Given the description of an element on the screen output the (x, y) to click on. 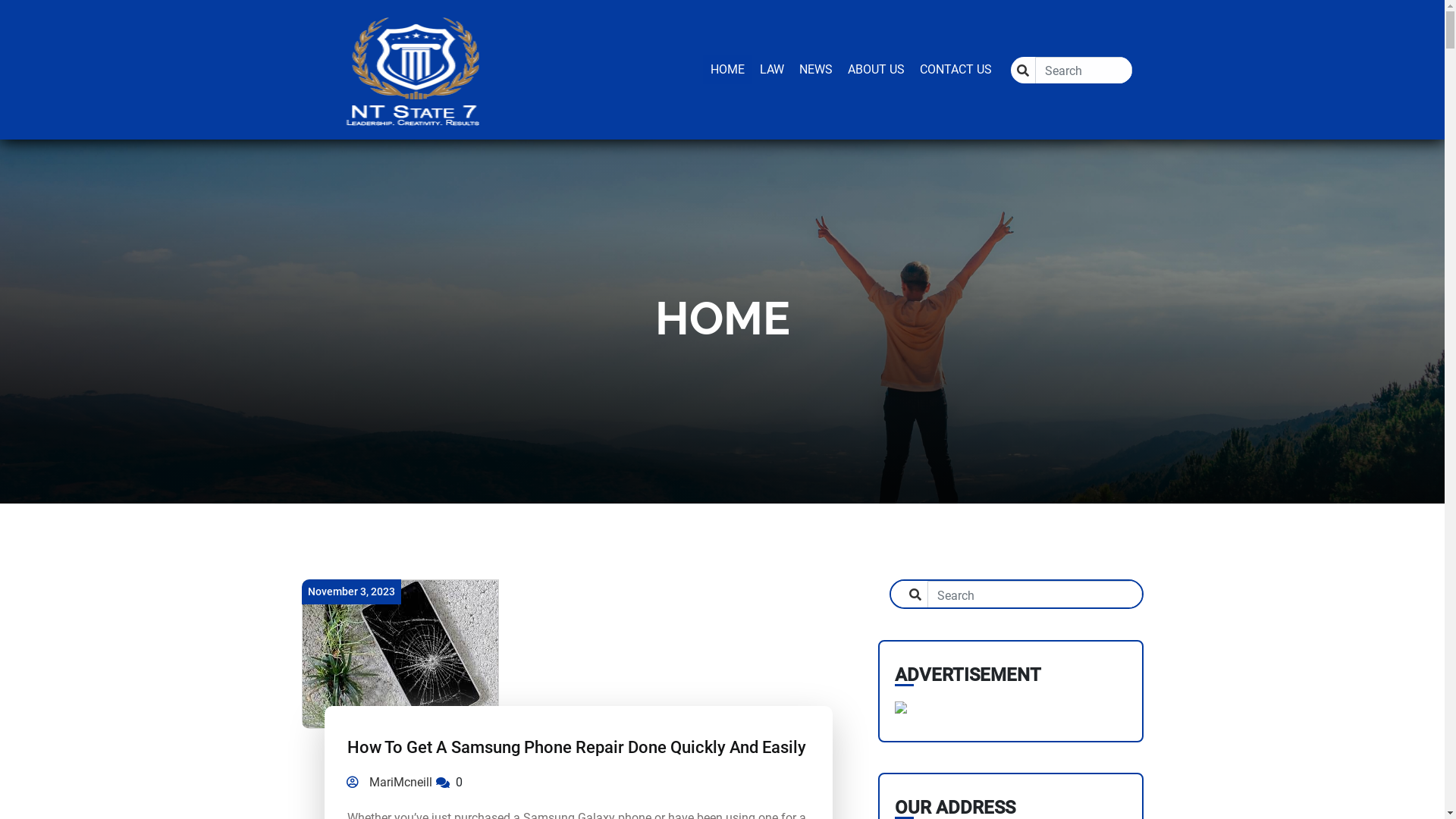
HOME Element type: text (726, 69)
ABOUT US Element type: text (876, 69)
MariMcneill Element type: text (389, 782)
How To Get A Samsung Phone Repair Done Quickly And Easily Element type: text (576, 746)
NEWS Element type: text (815, 69)
CONTACT US Element type: text (954, 69)
LAW Element type: text (771, 69)
